Given the description of an element on the screen output the (x, y) to click on. 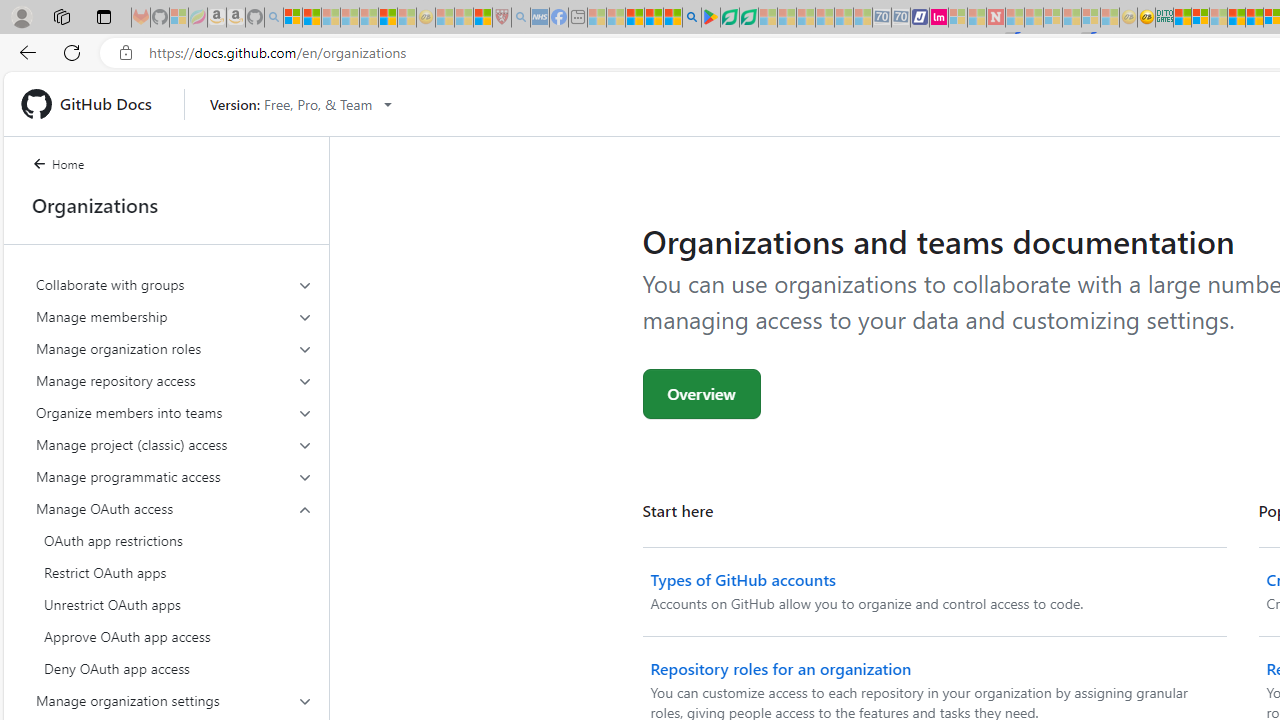
Kinda Frugal - MSN (1254, 17)
MSNBC - MSN - Sleeping (596, 17)
Bluey: Let's Play! - Apps on Google Play (710, 17)
GitHub Docs (93, 103)
OAuth app restrictions (174, 540)
Deny OAuth app access (174, 668)
OAuth app restrictions (174, 540)
